Given the description of an element on the screen output the (x, y) to click on. 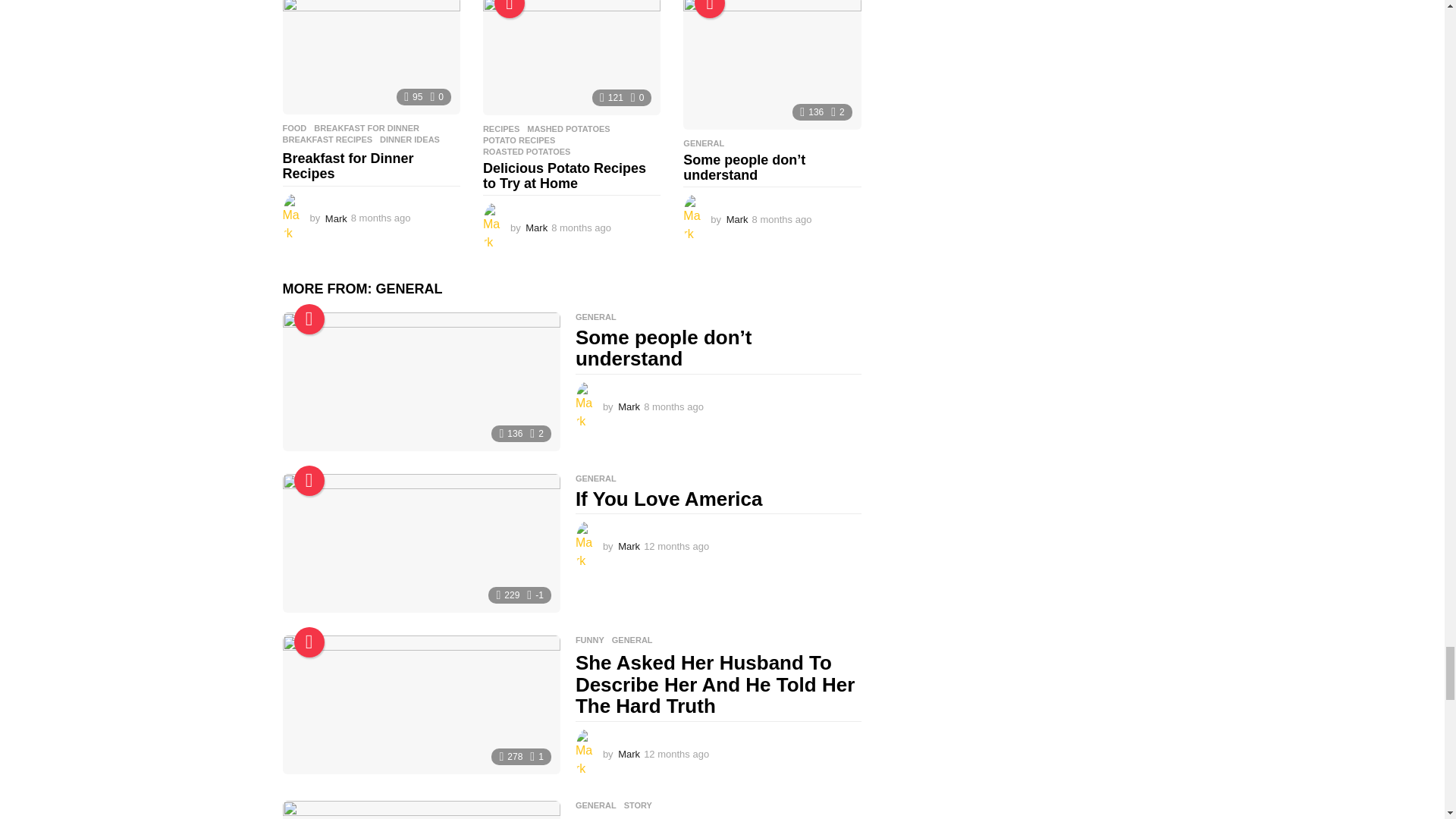
Hot (309, 318)
Popular (509, 9)
Delicious Potato Recipes to Try at Home (572, 57)
Hot (709, 9)
Breakfast for Dinner Recipes (371, 57)
Popular (309, 481)
